Given the description of an element on the screen output the (x, y) to click on. 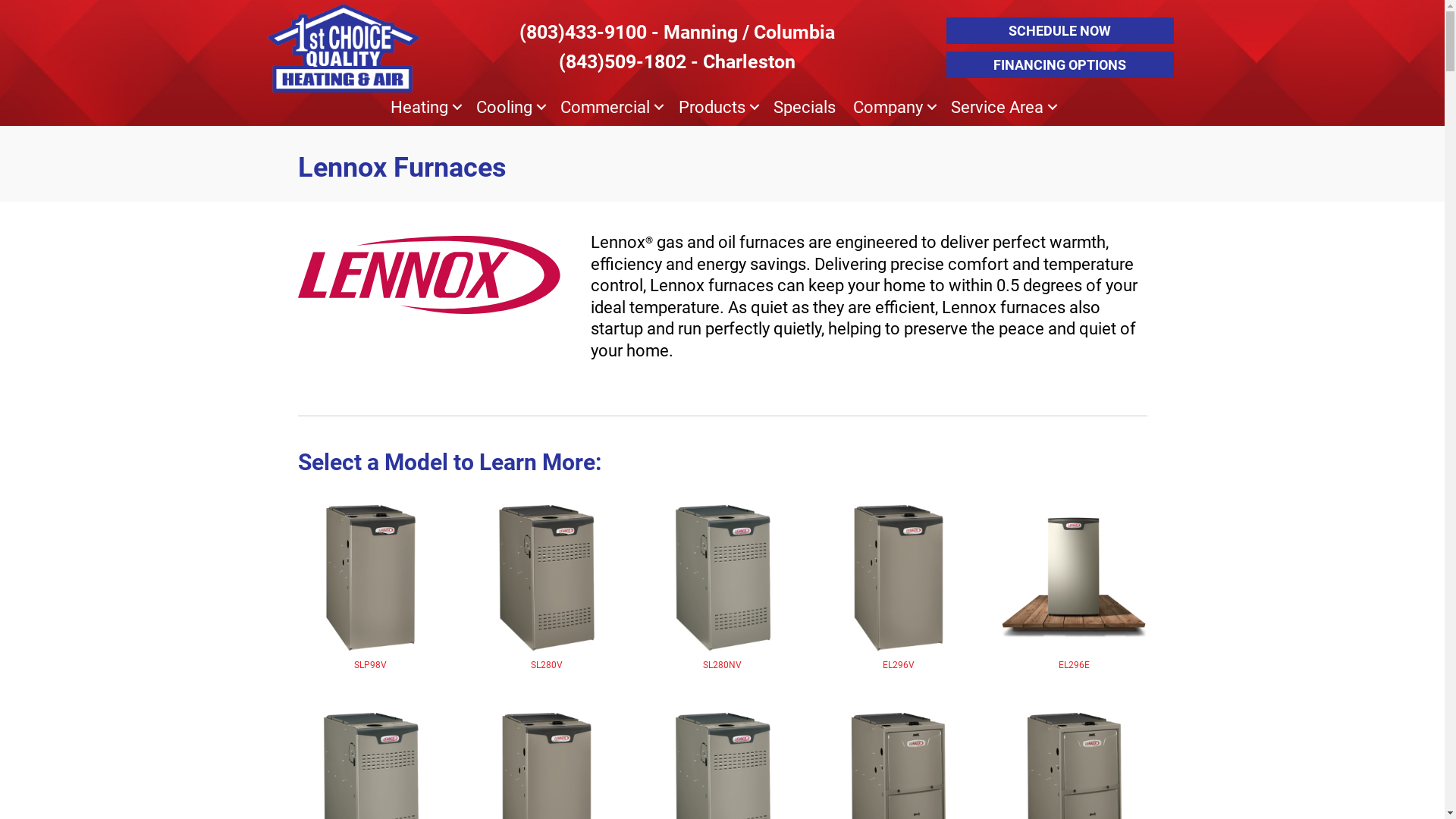
CQH Logo-RGB_Blue Element type: hover (342, 47)
SCHEDULE NOW Element type: text (1059, 30)
(843)509-1802 - Charleston Element type: text (676, 61)
EL296V Element type: text (897, 588)
Products Element type: text (716, 107)
Specials Element type: text (804, 107)
Commercial Element type: text (610, 107)
SL280V Element type: text (545, 588)
Cooling Element type: text (509, 107)
SL280NV Element type: text (721, 588)
(803)433-9100 - Manning / Columbia Element type: text (676, 31)
Company Element type: text (893, 107)
EL296E Element type: text (1073, 588)
Service Area Element type: text (1002, 107)
FINANCING OPTIONS Element type: text (1059, 64)
Heating Element type: text (424, 107)
SLP98V Element type: text (369, 588)
